Given the description of an element on the screen output the (x, y) to click on. 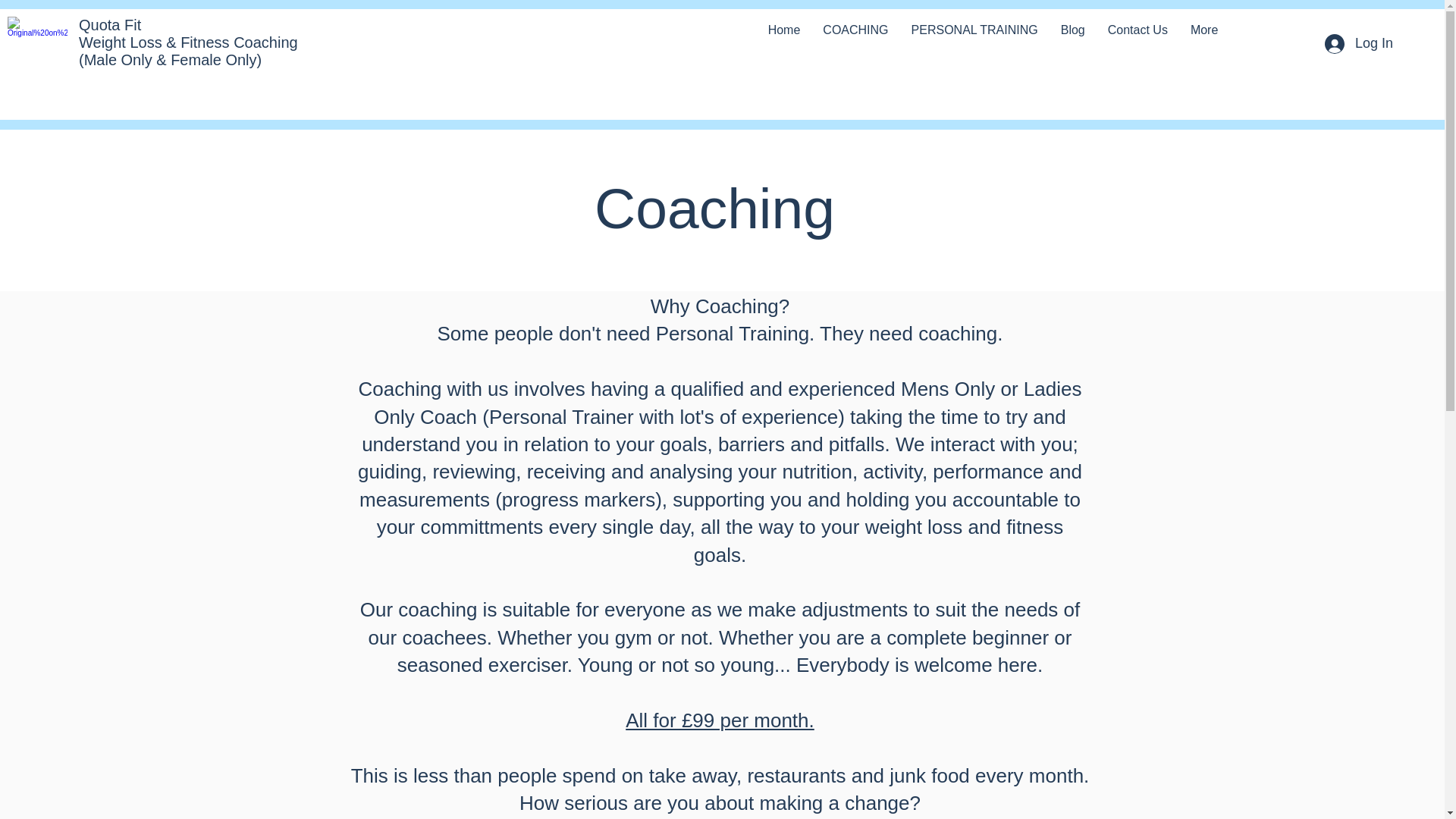
COACHING (854, 44)
Log In (1358, 43)
Quota Fit (109, 24)
Blog (1072, 44)
Contact Us (1137, 44)
PERSONAL TRAINING (974, 44)
Home (784, 44)
